Given the description of an element on the screen output the (x, y) to click on. 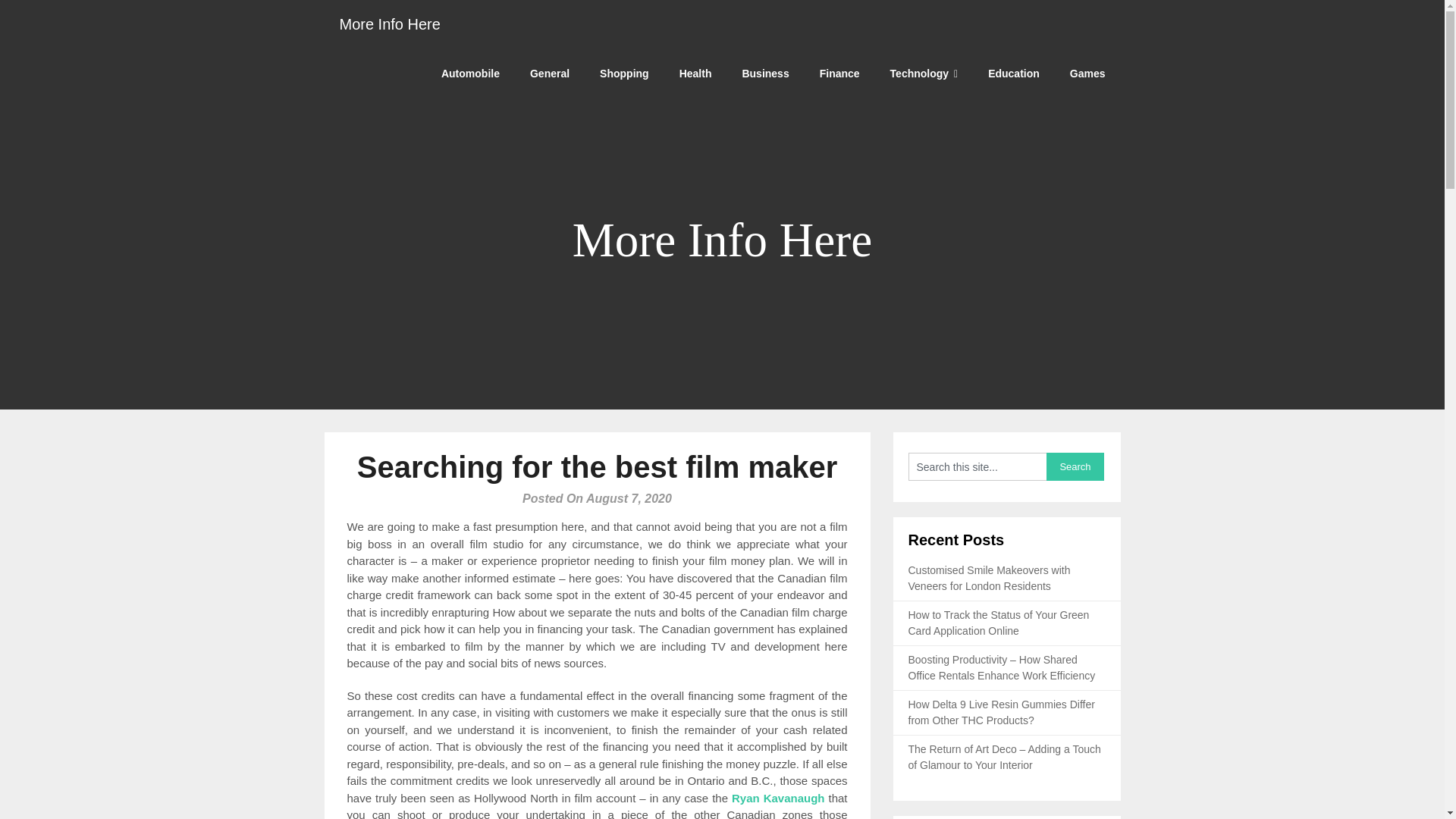
Technology (924, 73)
Business (764, 73)
Finance (840, 73)
Search this site... (977, 466)
Search (1075, 466)
Health (694, 73)
Automobile (470, 73)
Education (1013, 73)
